Given the description of an element on the screen output the (x, y) to click on. 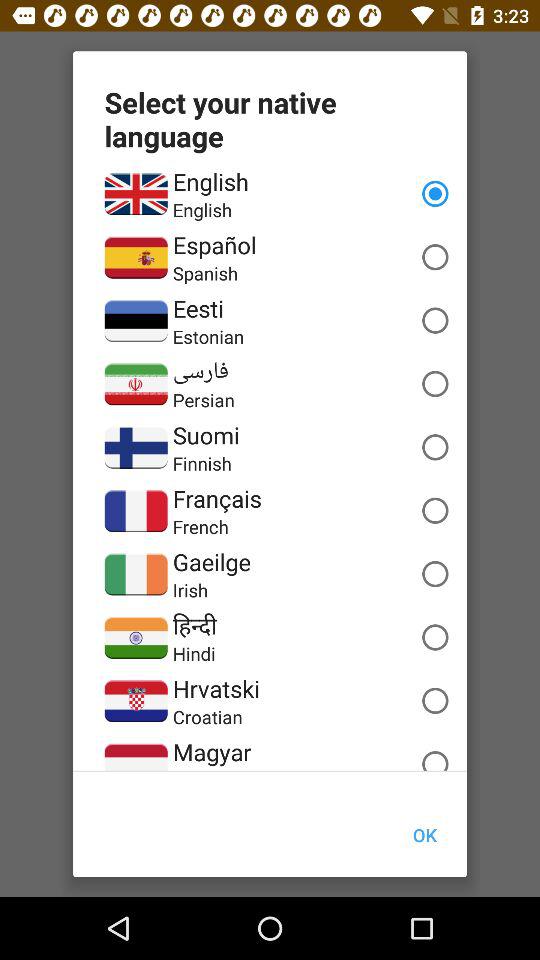
select the app above the hungarian item (211, 752)
